Given the description of an element on the screen output the (x, y) to click on. 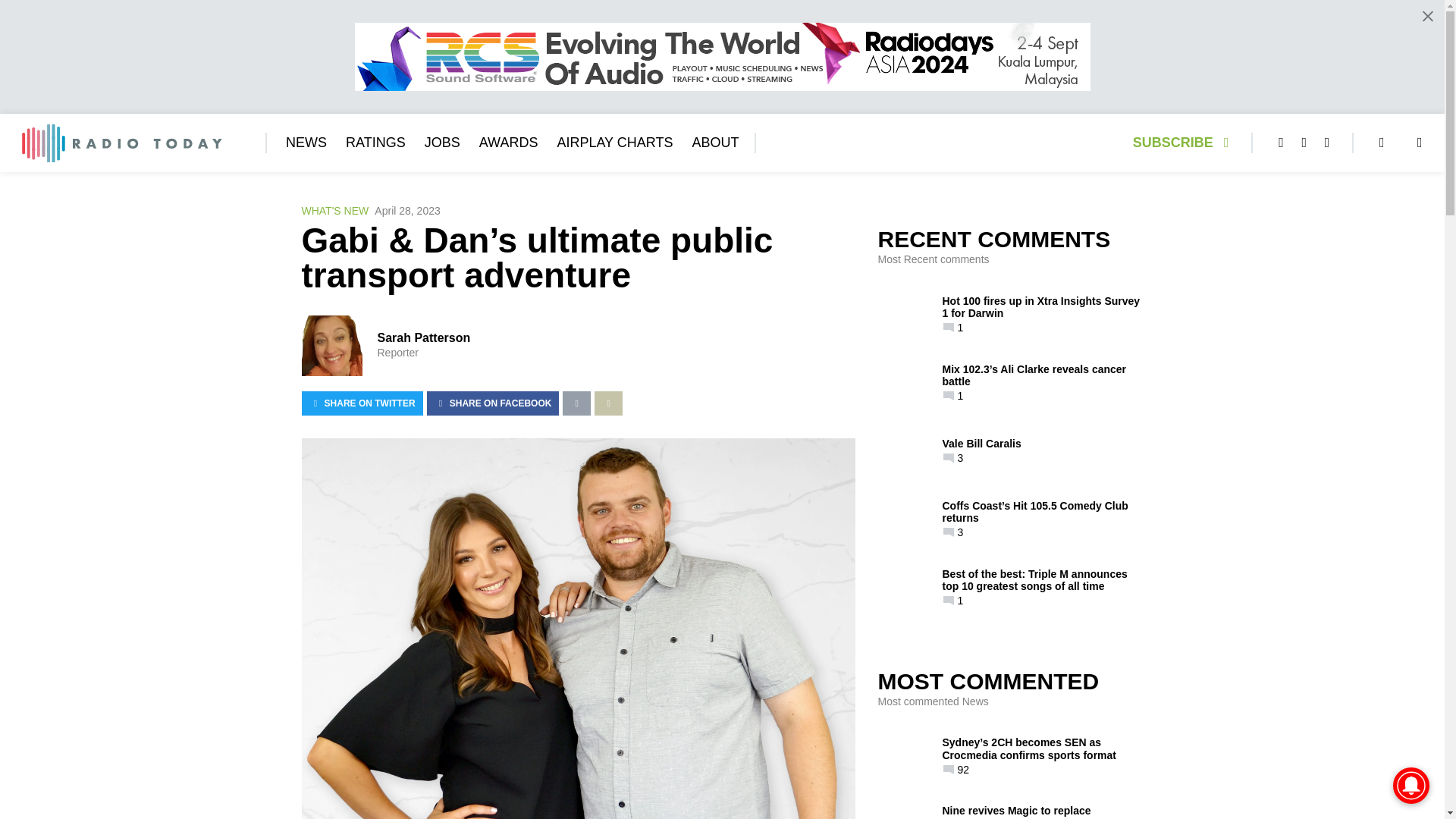
NEWS (305, 142)
Close (1427, 16)
RATINGS (376, 142)
SUBSCRIBE (1184, 142)
Sarah Patterson (423, 337)
ABOUT (714, 142)
AWARDS (508, 142)
AIRPLAY CHARTS (614, 142)
SHARE ON FACEBOOK (492, 403)
JOBS (442, 142)
SHARE ON TWITTER (362, 403)
WHAT'S NEW (335, 211)
